Given the description of an element on the screen output the (x, y) to click on. 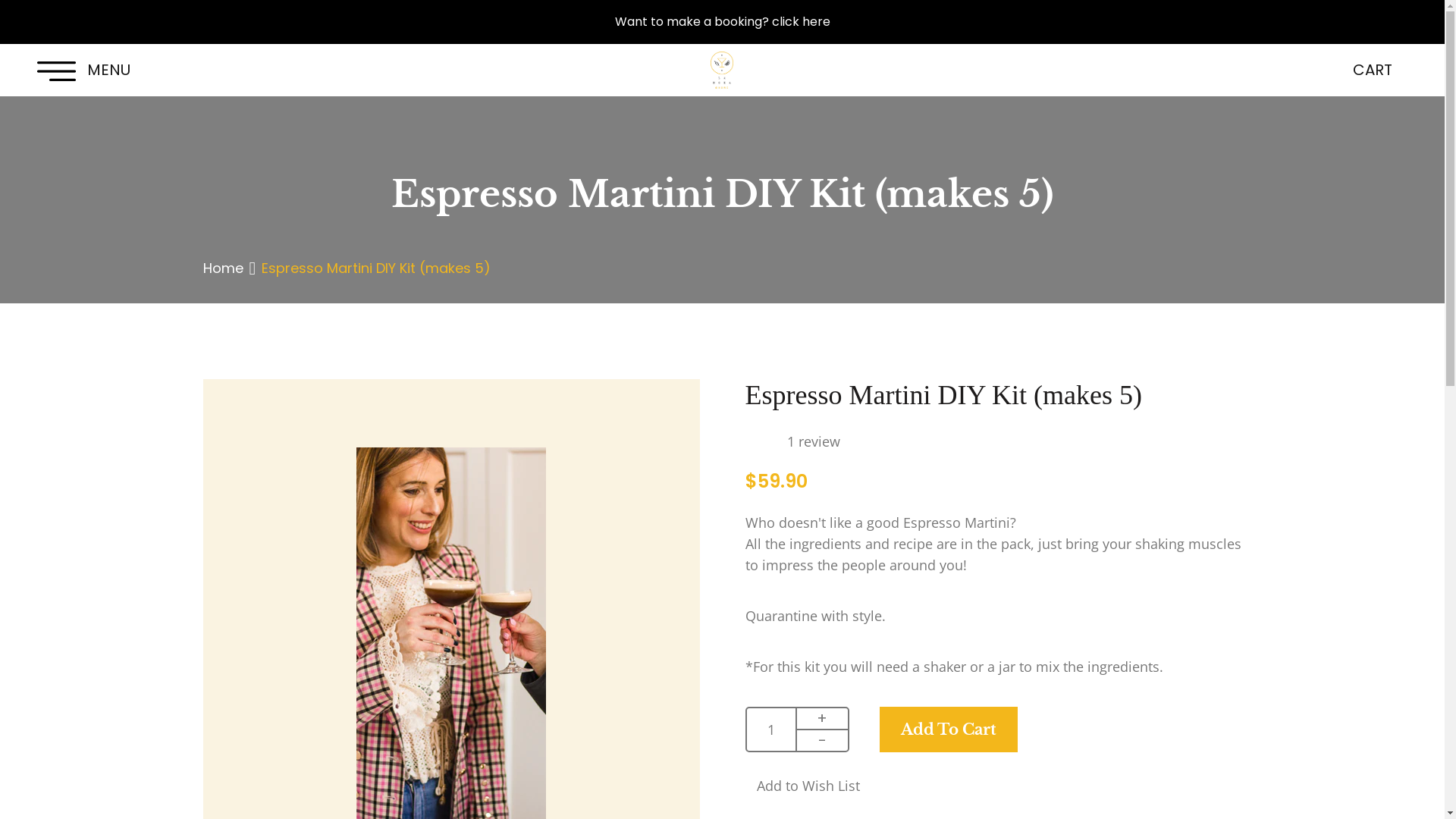
Qty Element type: hover (771, 729)
Add To Cart Element type: text (948, 729)
CART Element type: text (1372, 69)
Add to Wish List Element type: text (801, 785)
Home Element type: text (223, 268)
